Given the description of an element on the screen output the (x, y) to click on. 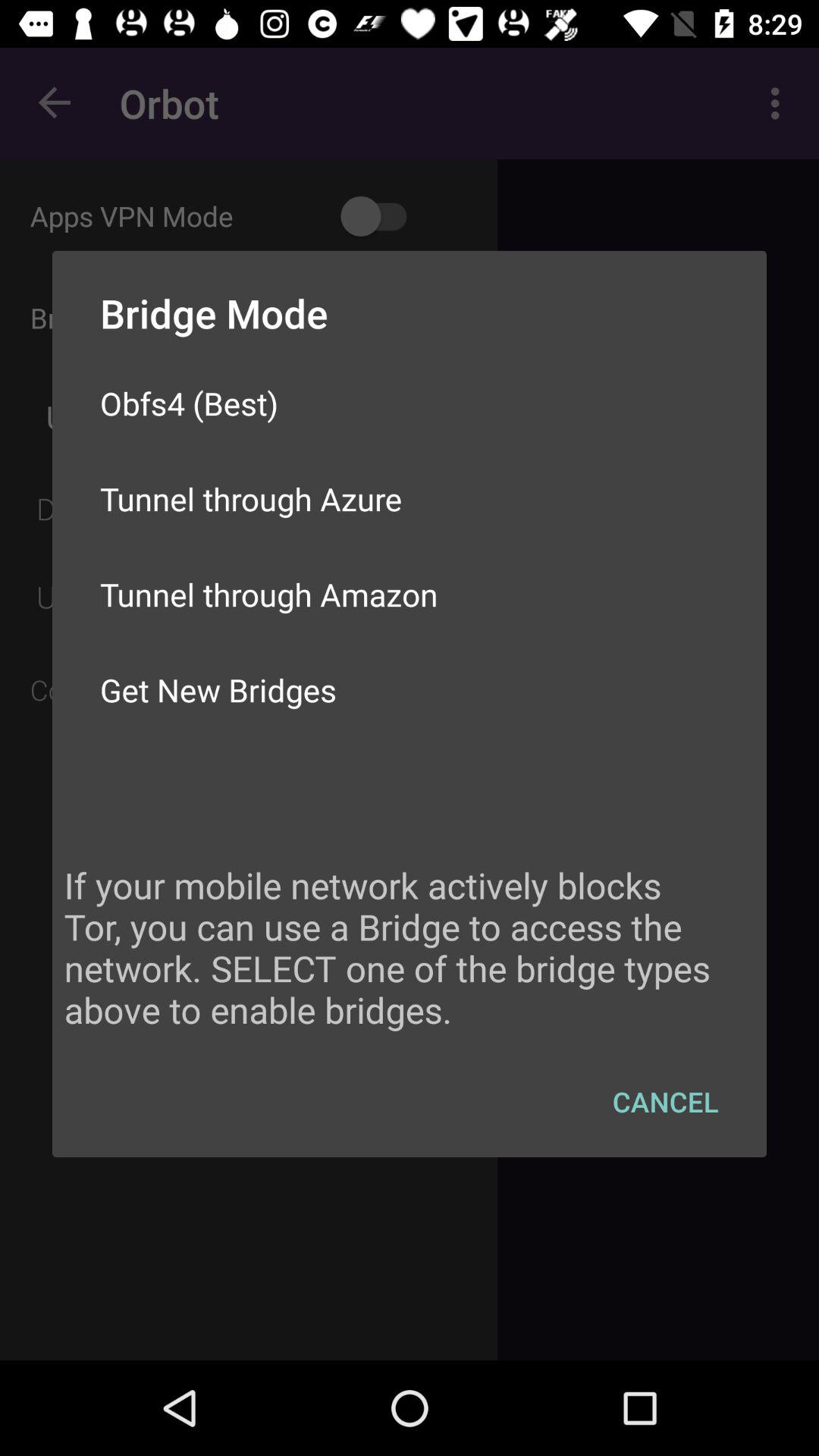
turn on the icon below if your mobile (665, 1101)
